Given the description of an element on the screen output the (x, y) to click on. 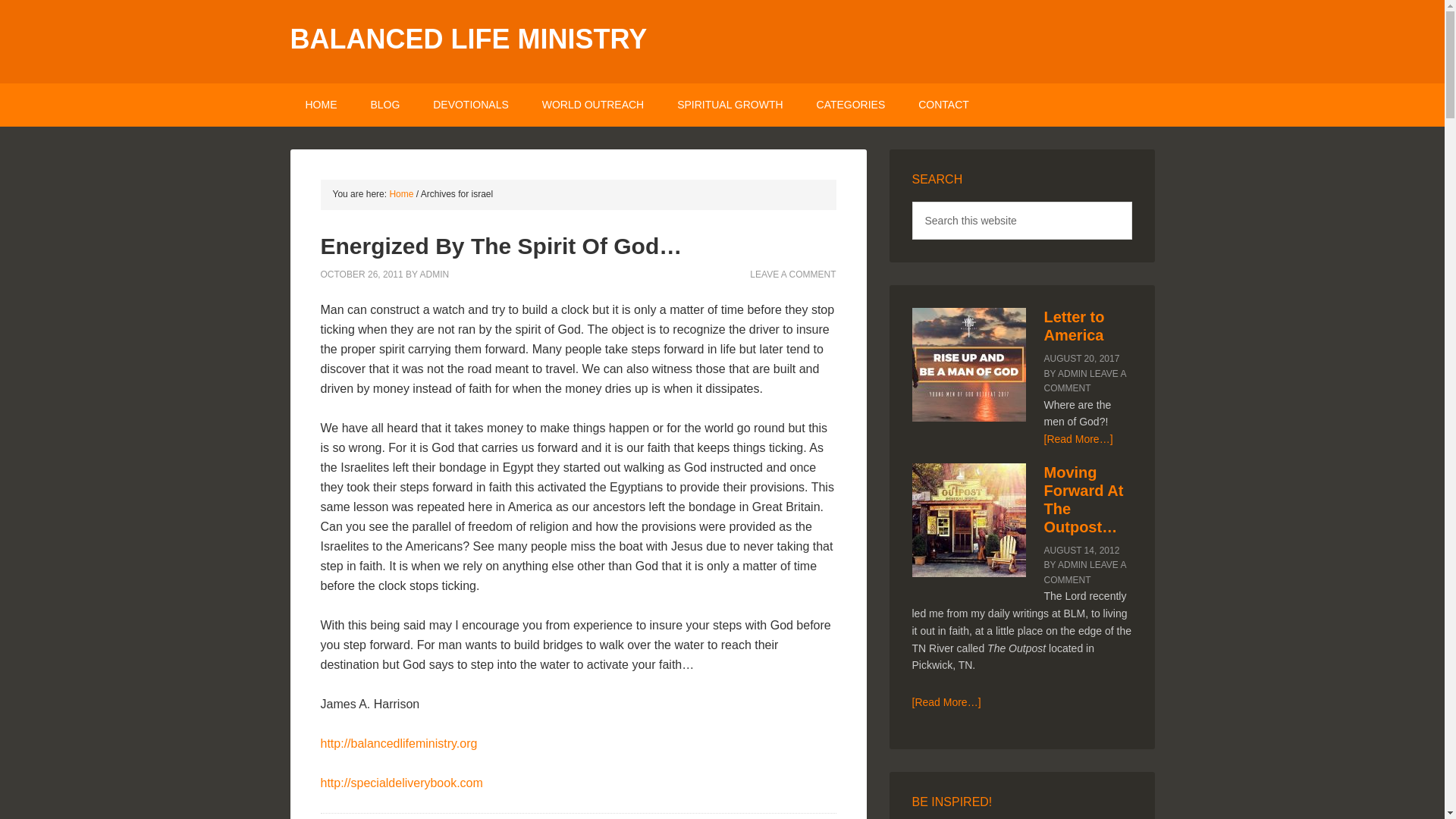
WORLD OUTREACH (593, 104)
SPIRITUAL GROWTH (729, 104)
CATEGORIES (851, 104)
Home (400, 194)
BLOG (384, 104)
DEVOTIONALS (470, 104)
HOME (320, 104)
ADMIN (433, 273)
LEAVE A COMMENT (792, 273)
